Given the description of an element on the screen output the (x, y) to click on. 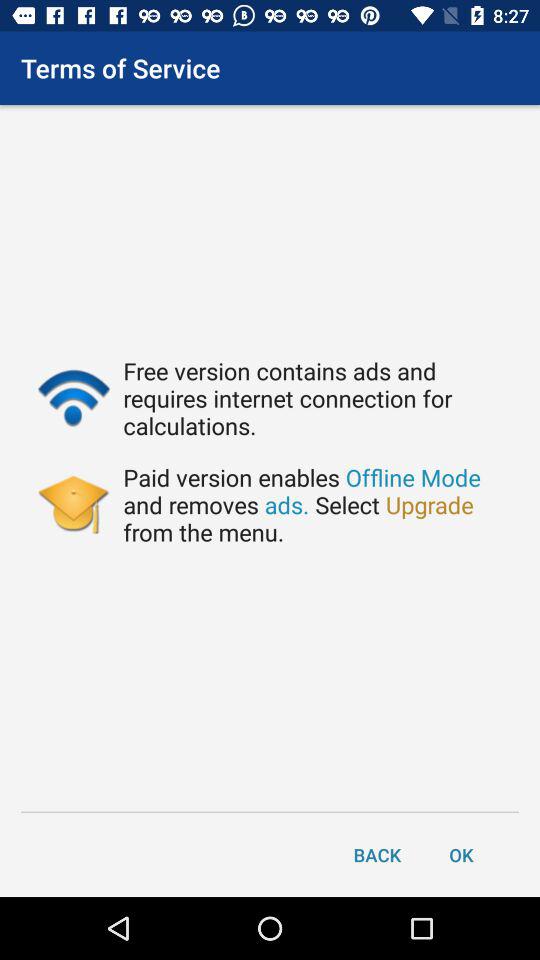
choose item next to the back item (461, 854)
